Given the description of an element on the screen output the (x, y) to click on. 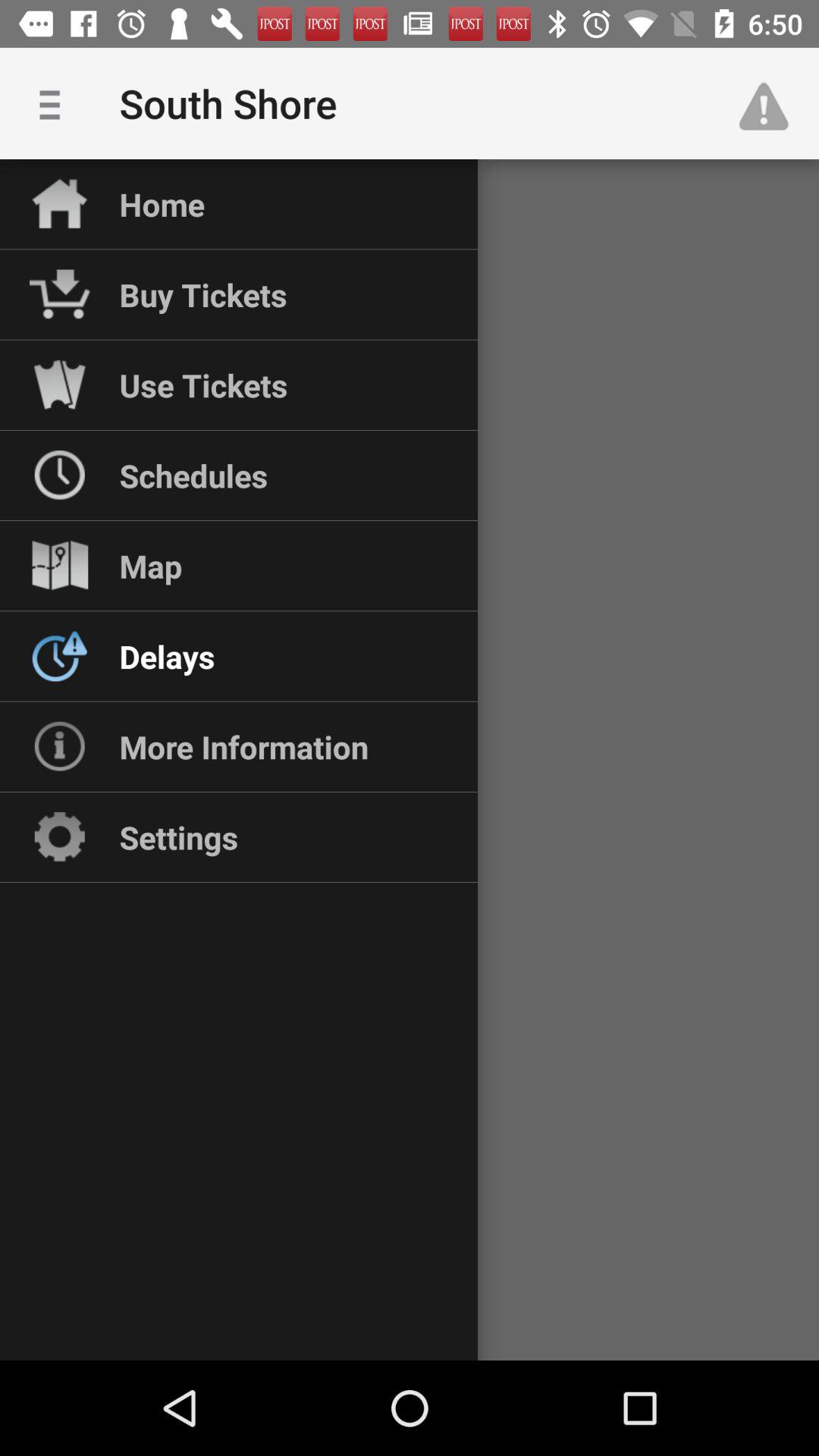
click the icon next to south shore item (771, 103)
